Given the description of an element on the screen output the (x, y) to click on. 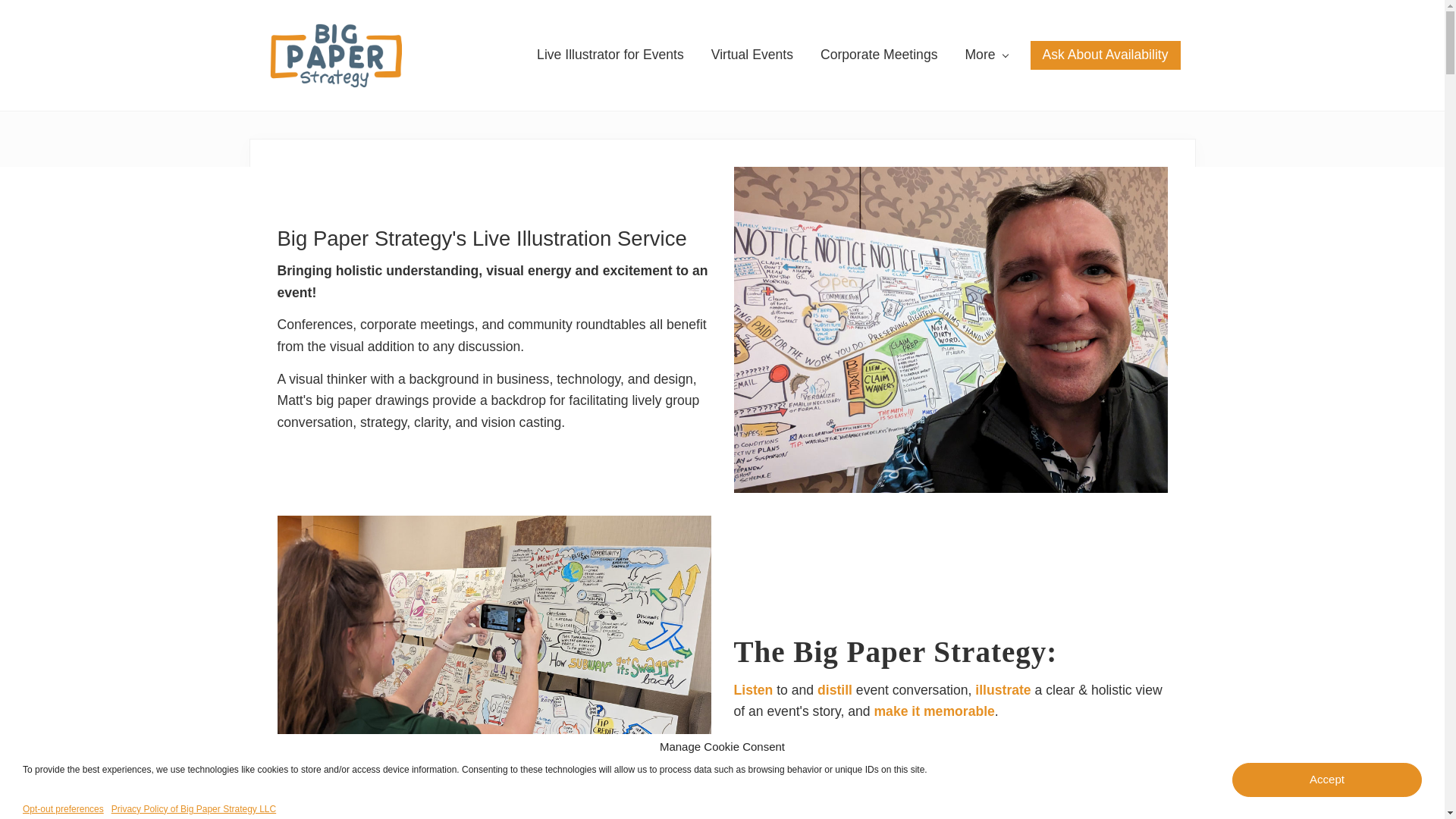
Live Illustration, a Conference Feature that Attendees Love (494, 667)
Live Illustrator for Events (609, 54)
Virtual Events (751, 54)
Corporate Meetings (879, 54)
More (985, 54)
Ask About Availability (1105, 54)
